Given the description of an element on the screen output the (x, y) to click on. 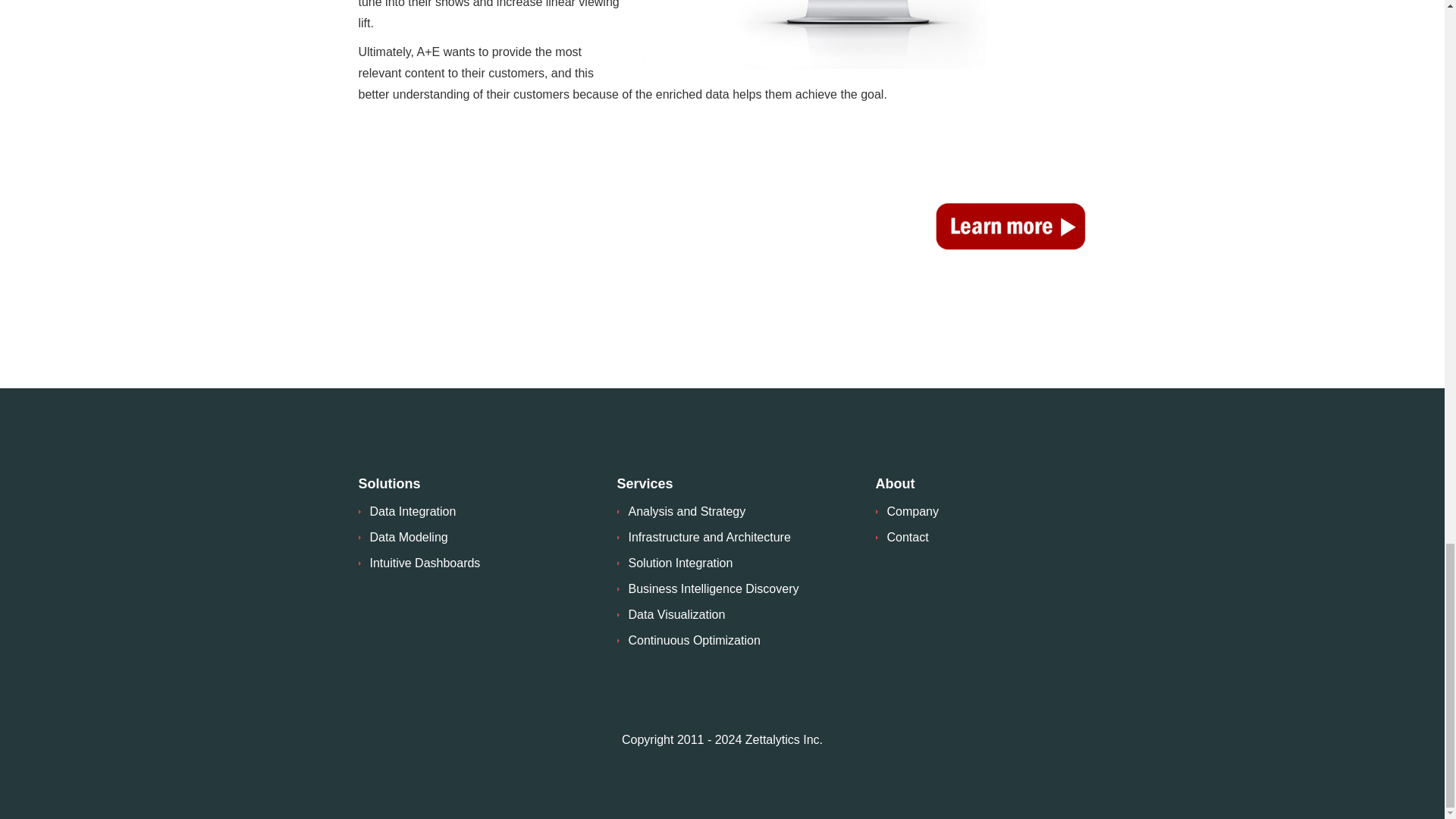
Business Intelligence Discovery (712, 588)
Solution Integration (679, 562)
Data Visualization (676, 614)
Data Modeling (408, 536)
Company (912, 511)
Intuitive Dashboards (424, 562)
Continuous Optimization (693, 640)
Infrastructure and Architecture (708, 536)
Data Integration (413, 511)
Contact (907, 536)
